Given the description of an element on the screen output the (x, y) to click on. 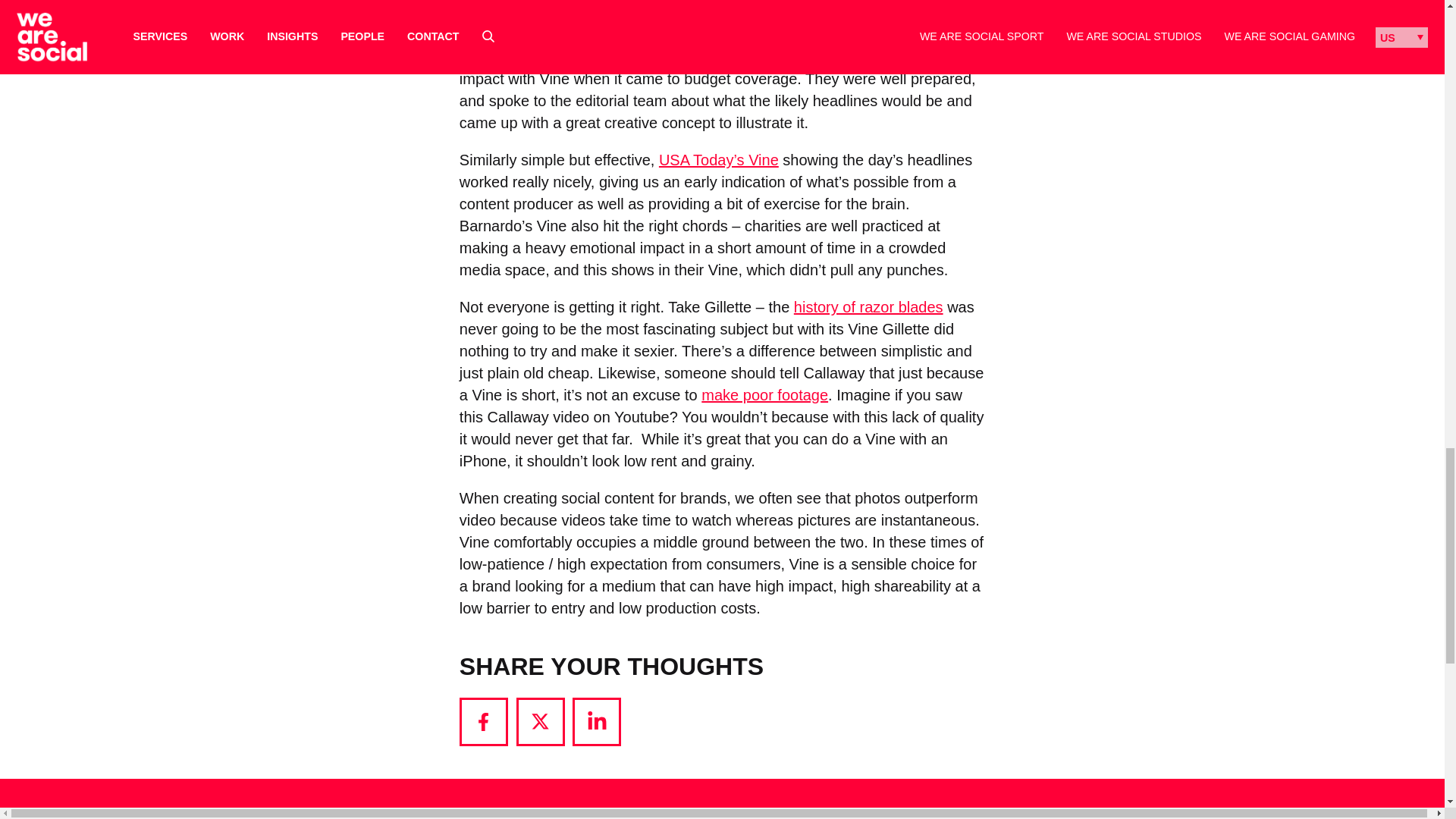
Share via LinkedIn (596, 721)
history of razor blades (868, 306)
Share via Facebook (484, 721)
Share via Twitter (540, 721)
Share via Facebook (484, 721)
Vine to push their coverage of the budget (790, 34)
make poor footage (764, 394)
Share via Twitter (540, 721)
Share via LinkedIn (596, 721)
